Given the description of an element on the screen output the (x, y) to click on. 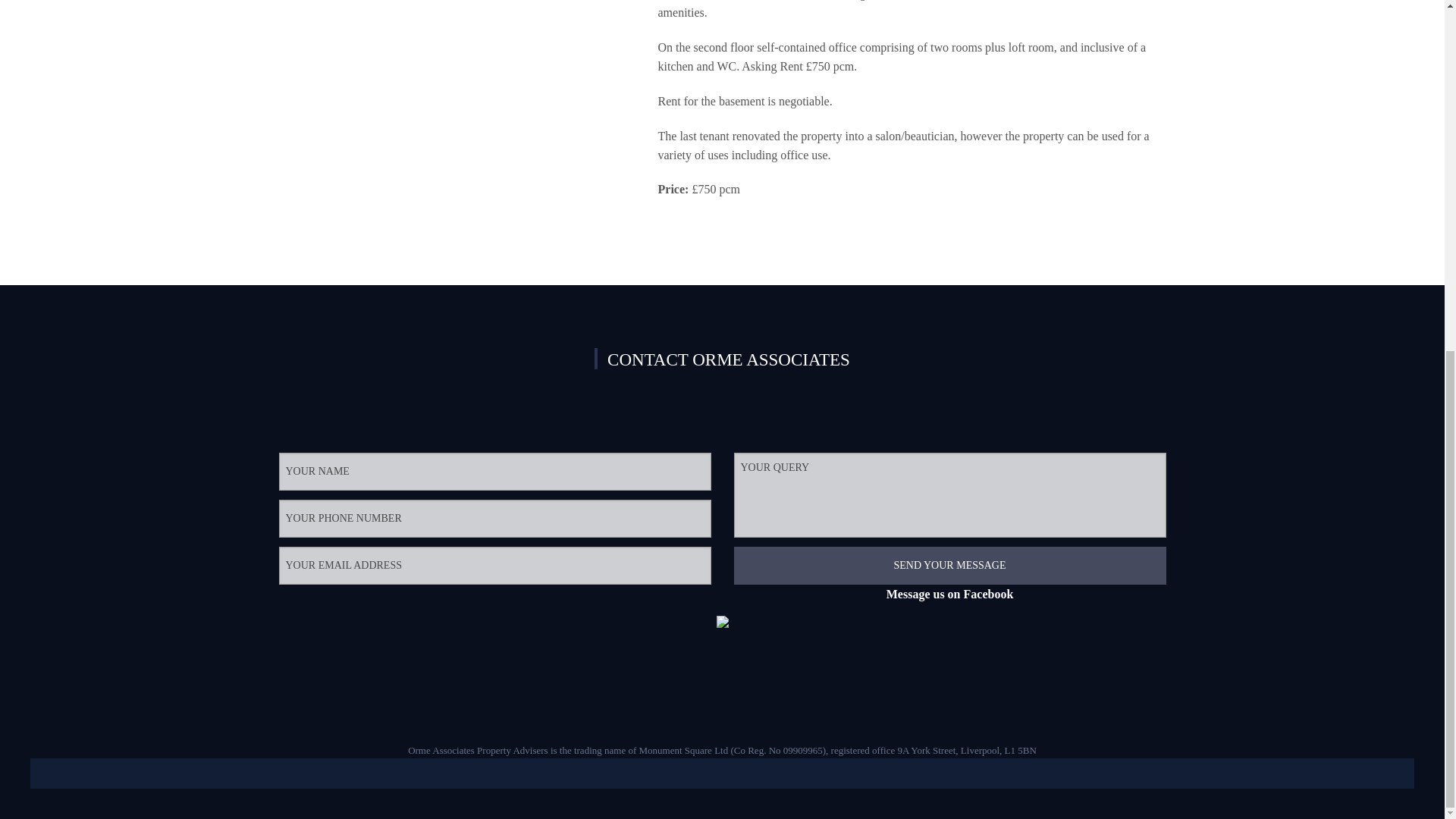
SEND YOUR MESSAGE (949, 565)
SEND YOUR MESSAGE (949, 565)
